Given the description of an element on the screen output the (x, y) to click on. 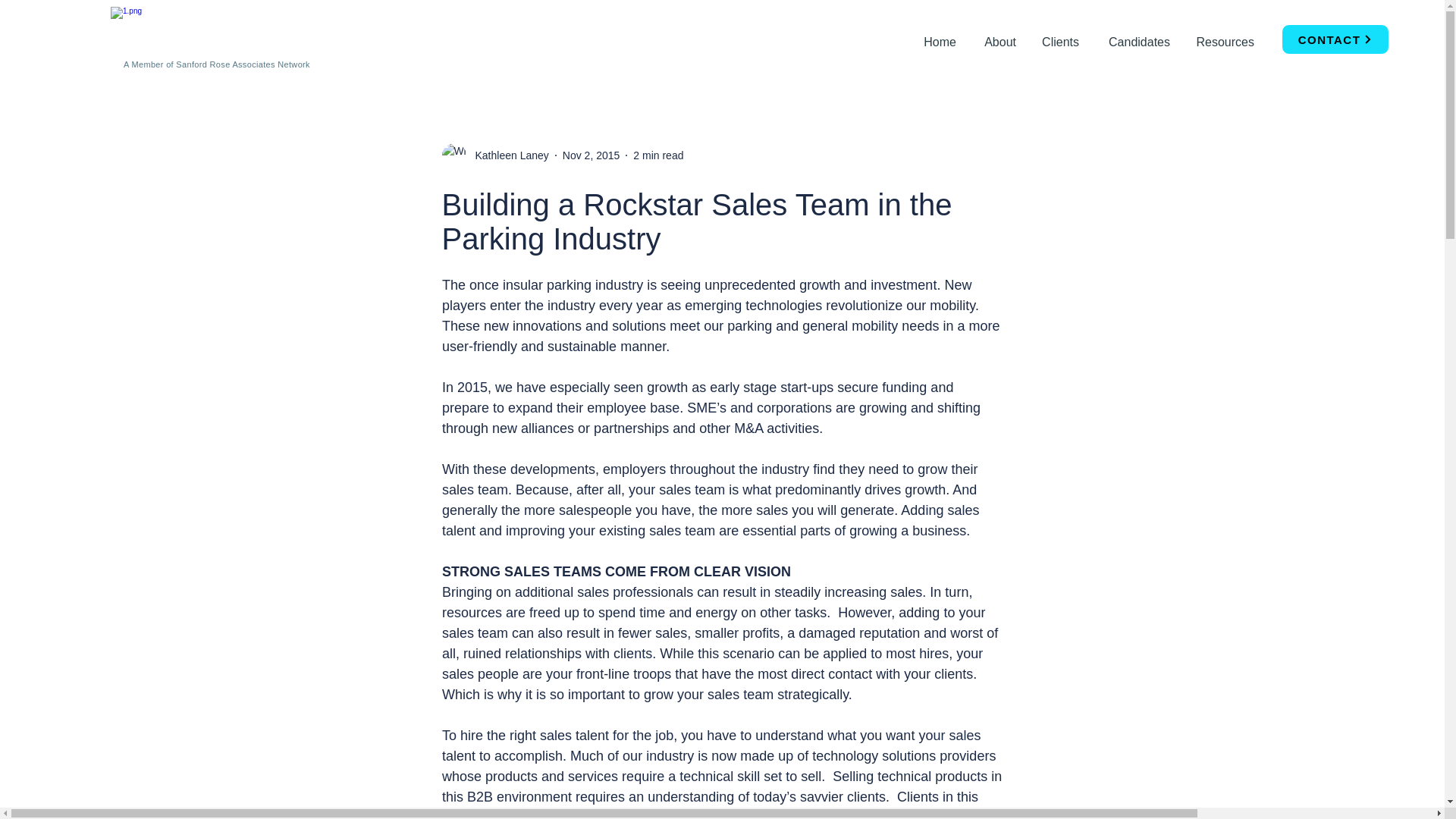
Kathleen Laney (494, 155)
CONTACT (1335, 39)
Nov 2, 2015 (591, 155)
2 min read (657, 155)
Home (939, 35)
Kathleen Laney (506, 155)
